Given the description of an element on the screen output the (x, y) to click on. 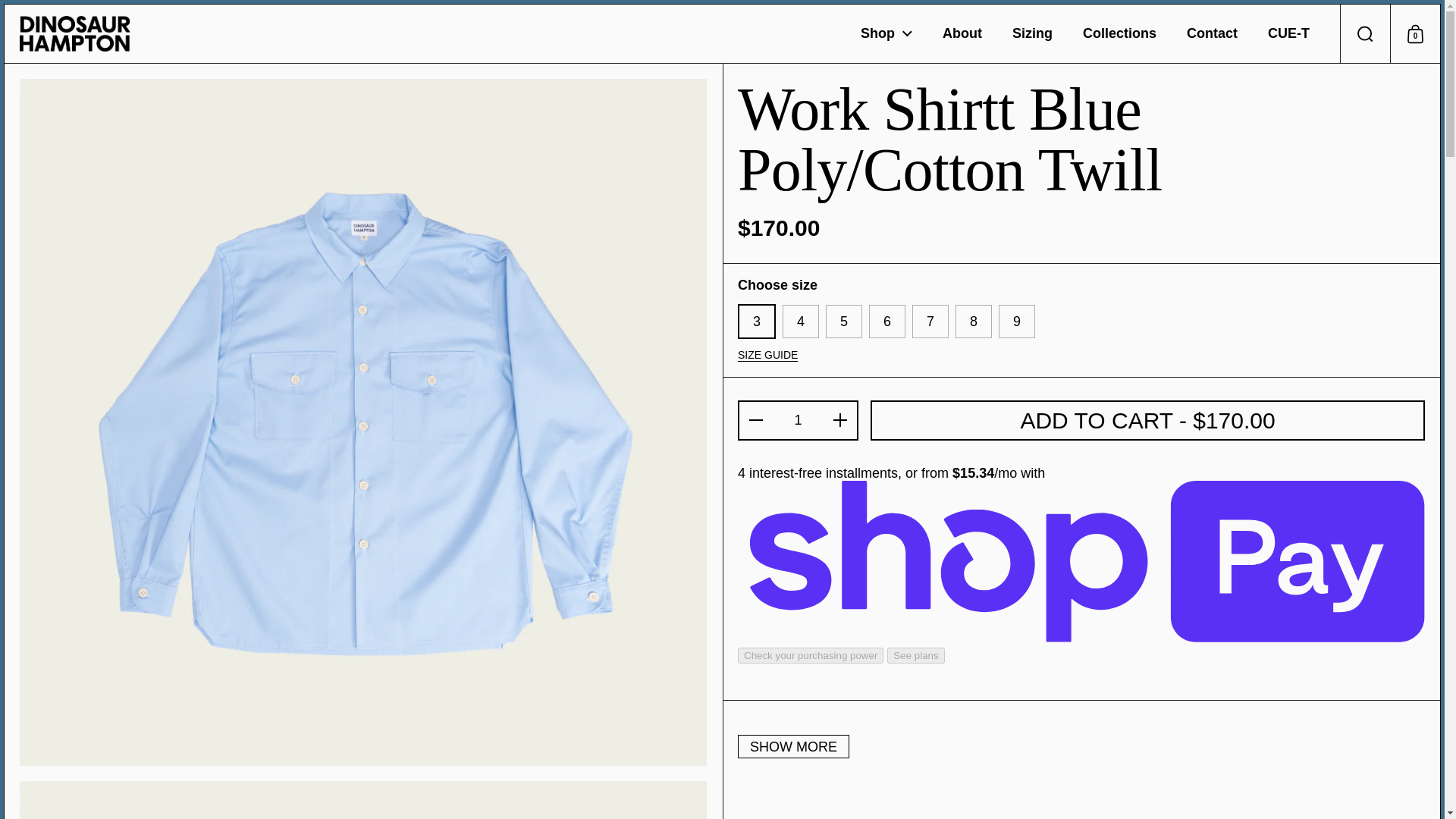
Shop (886, 34)
About (962, 34)
Collections (1119, 34)
DinosaurHampton (75, 33)
SIZE GUIDE (767, 355)
Contact (1212, 34)
CUE-T (1288, 34)
Sizing (1032, 34)
